Given the description of an element on the screen output the (x, y) to click on. 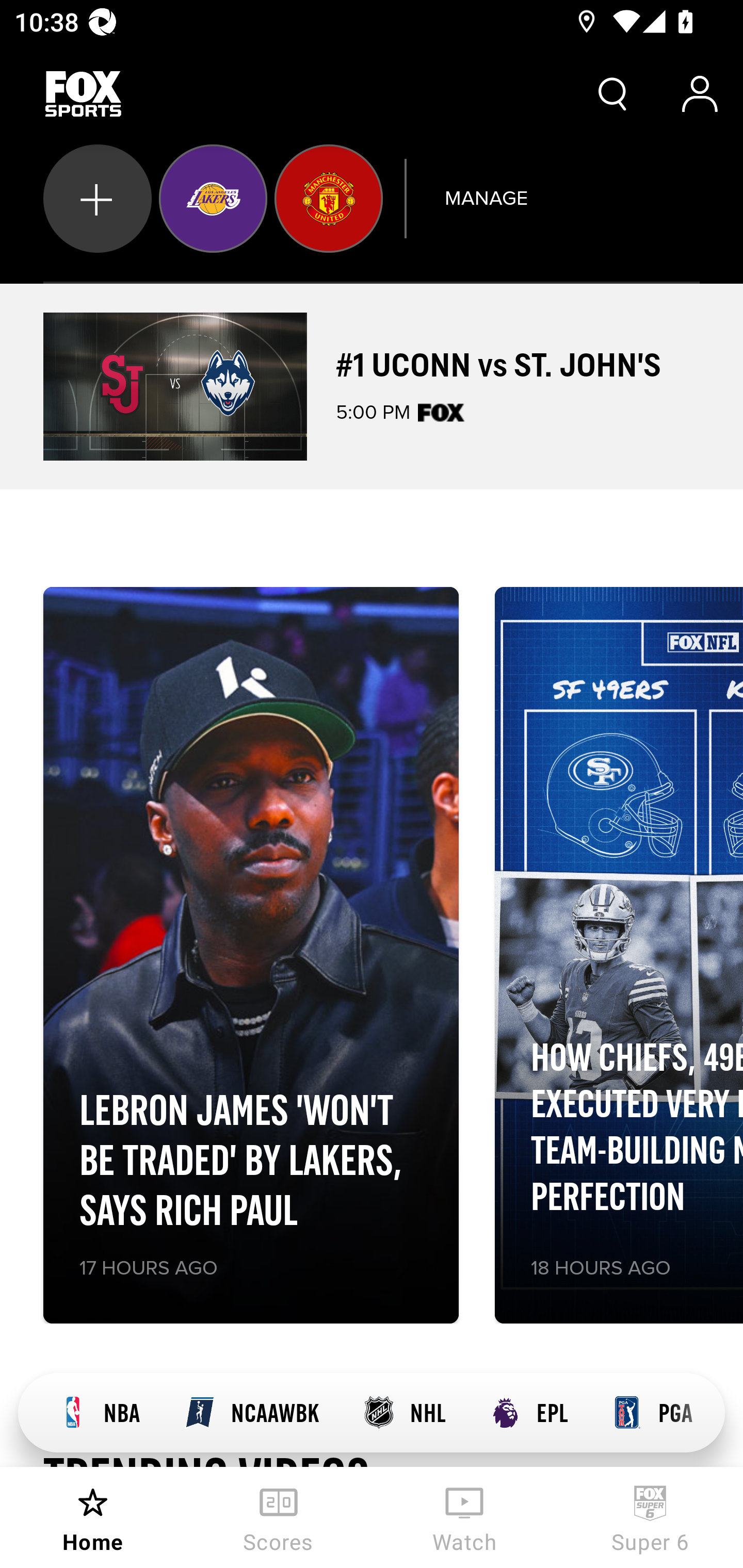
Search (612, 93)
Account (699, 93)
MANAGE (485, 198)
#1 UCONN vs ST. JOHN'S 5:00 PM (371, 386)
NBA (97, 1412)
NCAAWBK (251, 1412)
NHL (404, 1412)
EPL (528, 1412)
PGA (651, 1412)
Scores (278, 1517)
Watch (464, 1517)
Super 6 (650, 1517)
